Given the description of an element on the screen output the (x, y) to click on. 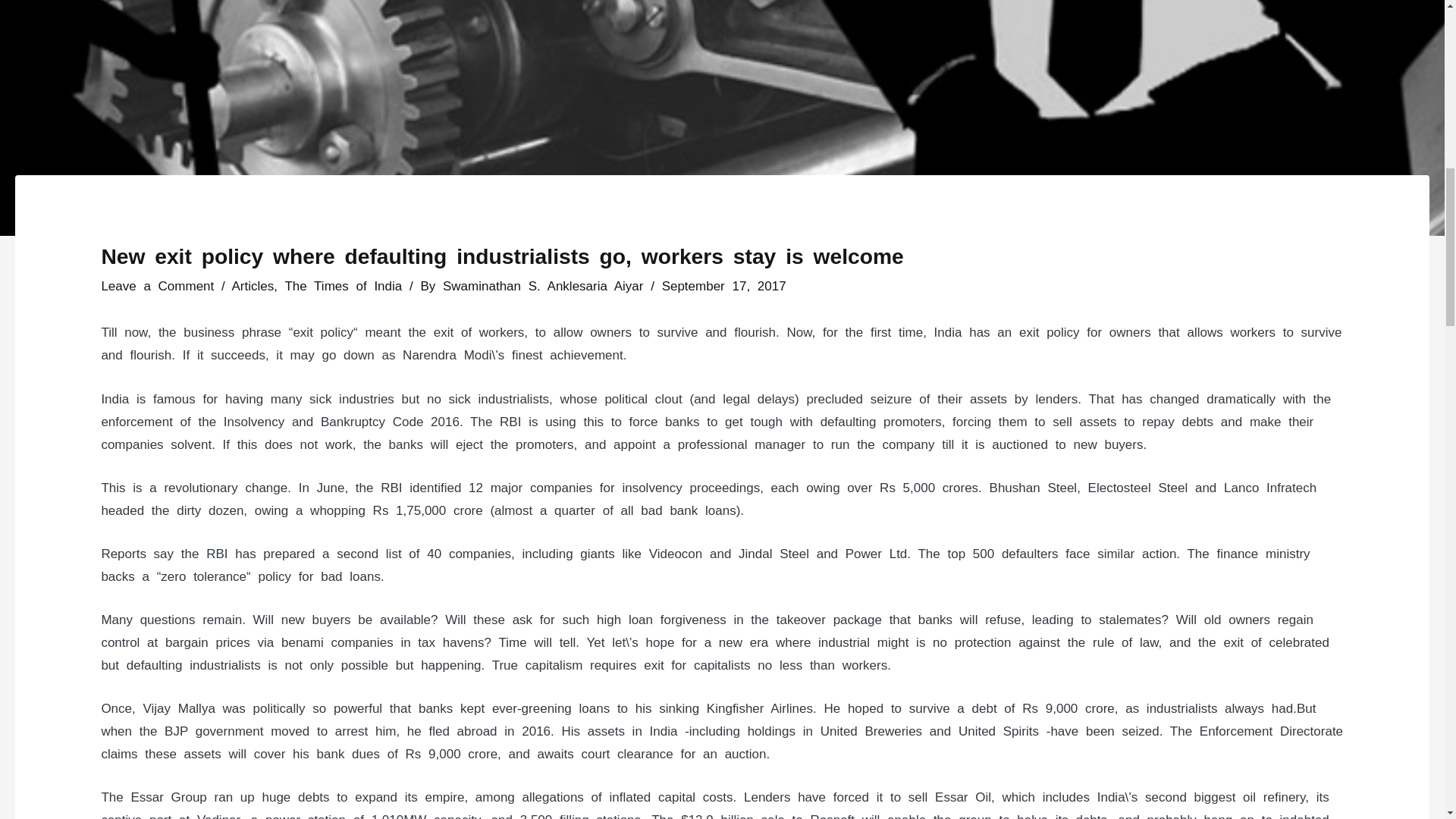
Articles (253, 286)
View all posts by Swaminathan S. Anklesaria Aiyar (546, 286)
Leave a Comment (157, 286)
The Times of India (342, 286)
Swaminathan S. Anklesaria Aiyar (546, 286)
